Given the description of an element on the screen output the (x, y) to click on. 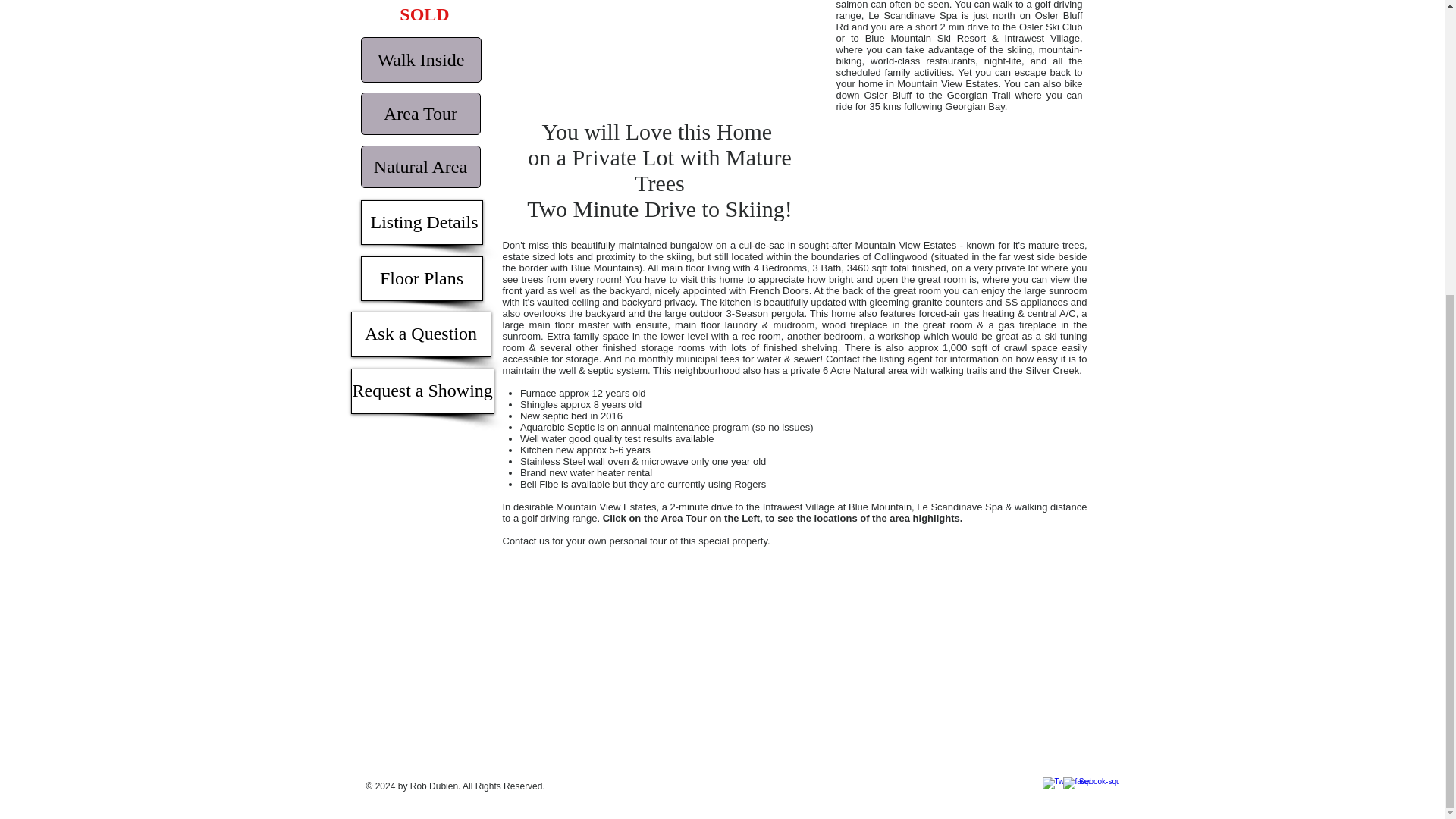
Walk Inside (421, 59)
Floor Plans (422, 278)
Area Tour (420, 113)
Natural Area (420, 166)
Listing Details (422, 221)
Ask a Question (420, 334)
Main.jpeg (655, 58)
Request a Showing (421, 391)
